Given the description of an element on the screen output the (x, y) to click on. 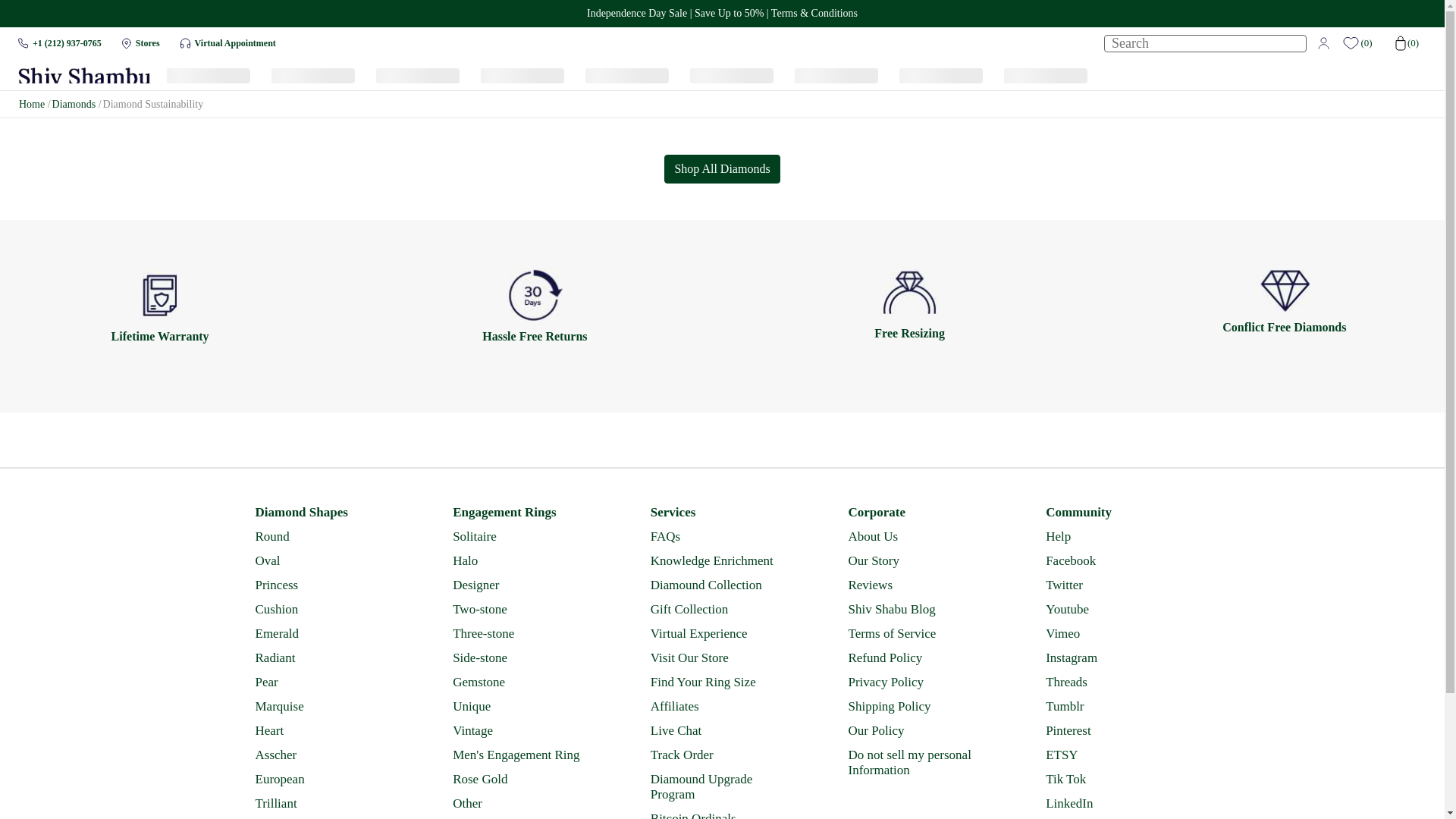
Three-stone (523, 633)
Phone (22, 42)
Vintage (523, 730)
Side-stone (523, 657)
Call (66, 42)
Home (31, 103)
Asscher (325, 754)
Pear (325, 682)
Stores (147, 42)
Virtual Appointment (235, 42)
Gemstone (523, 682)
Two-stone (523, 609)
Princess (325, 585)
Designer (523, 585)
Cushion (325, 609)
